Given the description of an element on the screen output the (x, y) to click on. 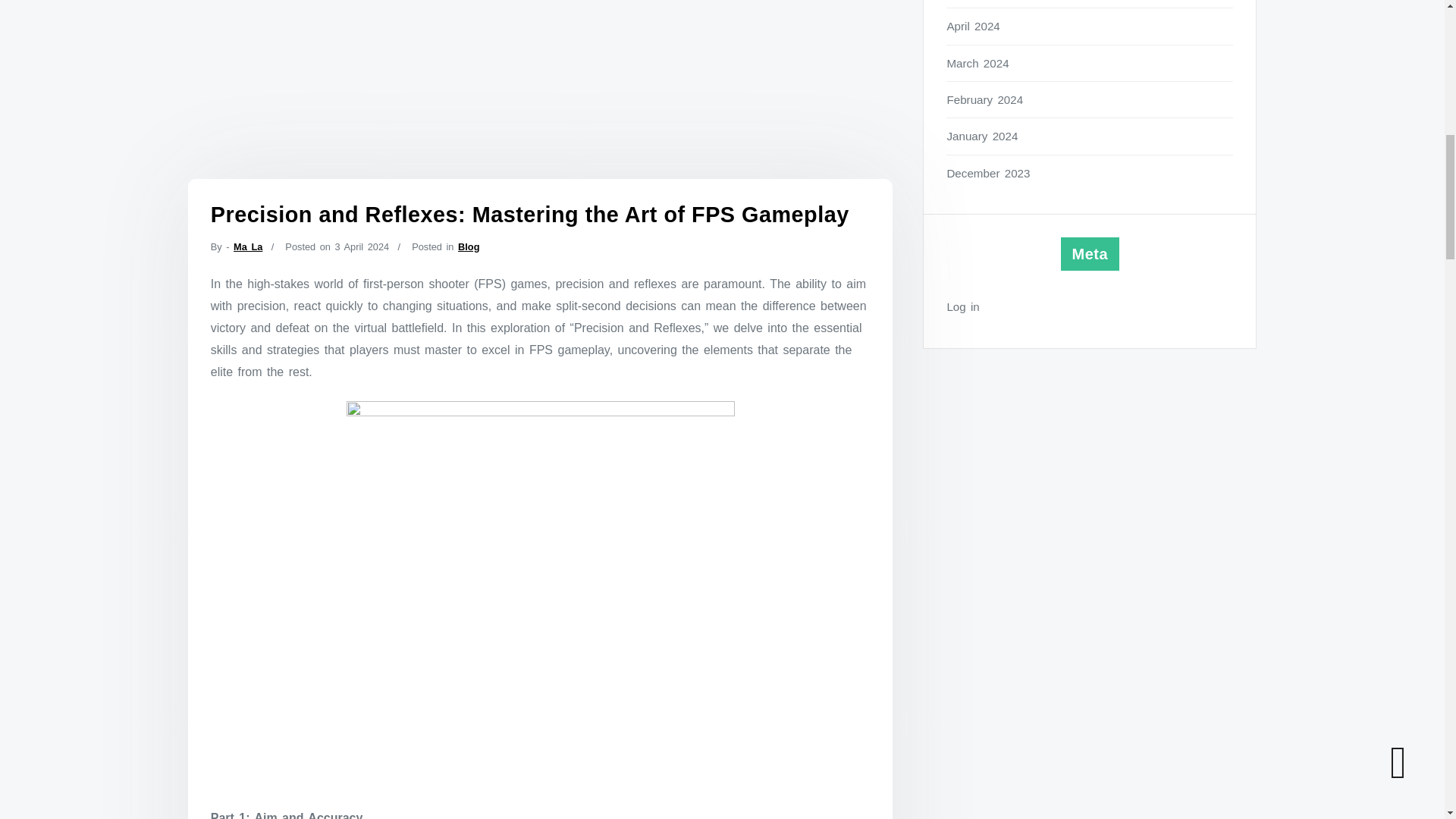
Blog (468, 246)
March 2024 (1089, 63)
February 2024 (1089, 99)
Log in (1089, 306)
April 2024 (1089, 25)
Ma La (247, 246)
December 2023 (1089, 172)
January 2024 (1089, 136)
